Given the description of an element on the screen output the (x, y) to click on. 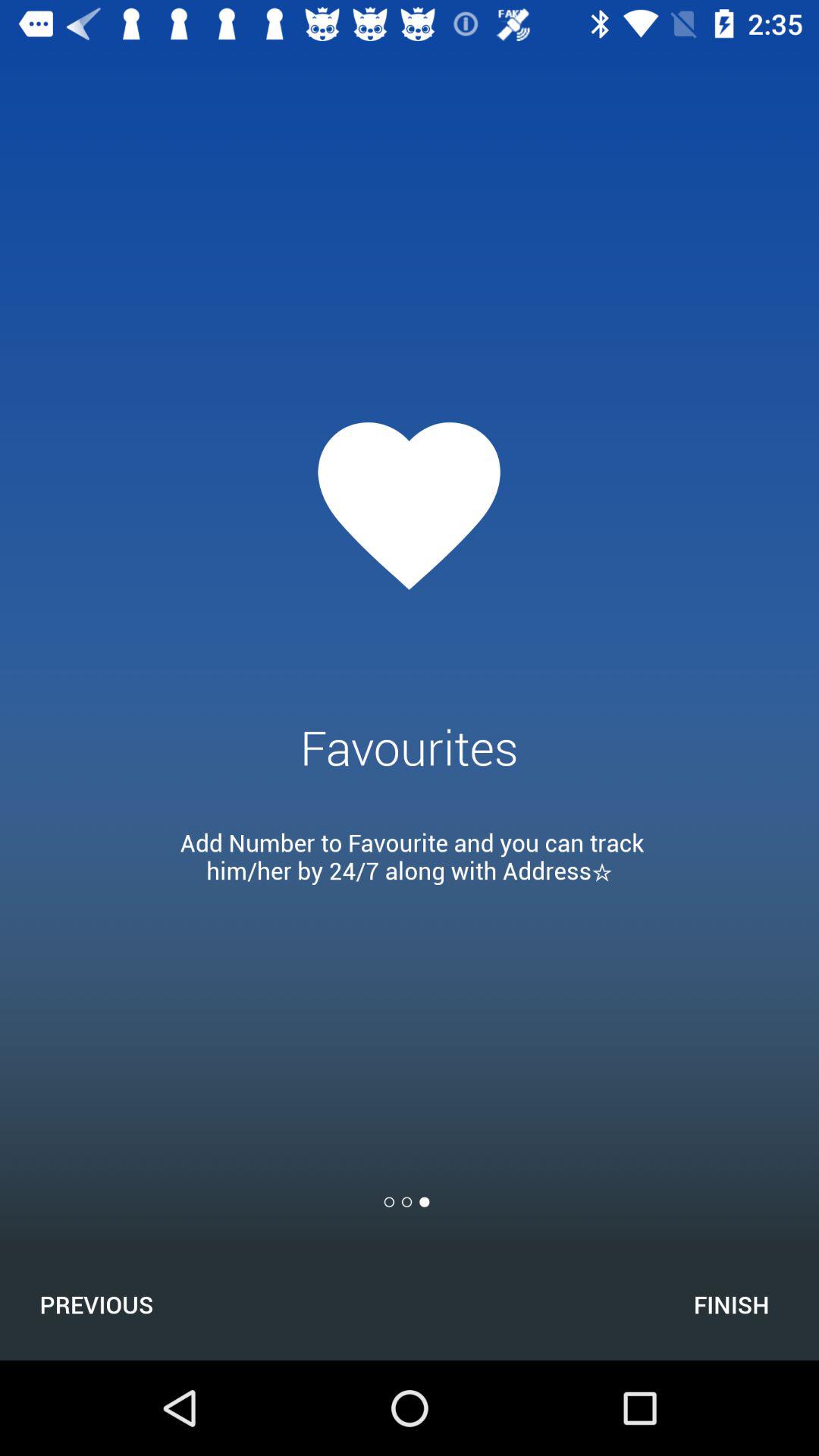
open previous (96, 1304)
